Given the description of an element on the screen output the (x, y) to click on. 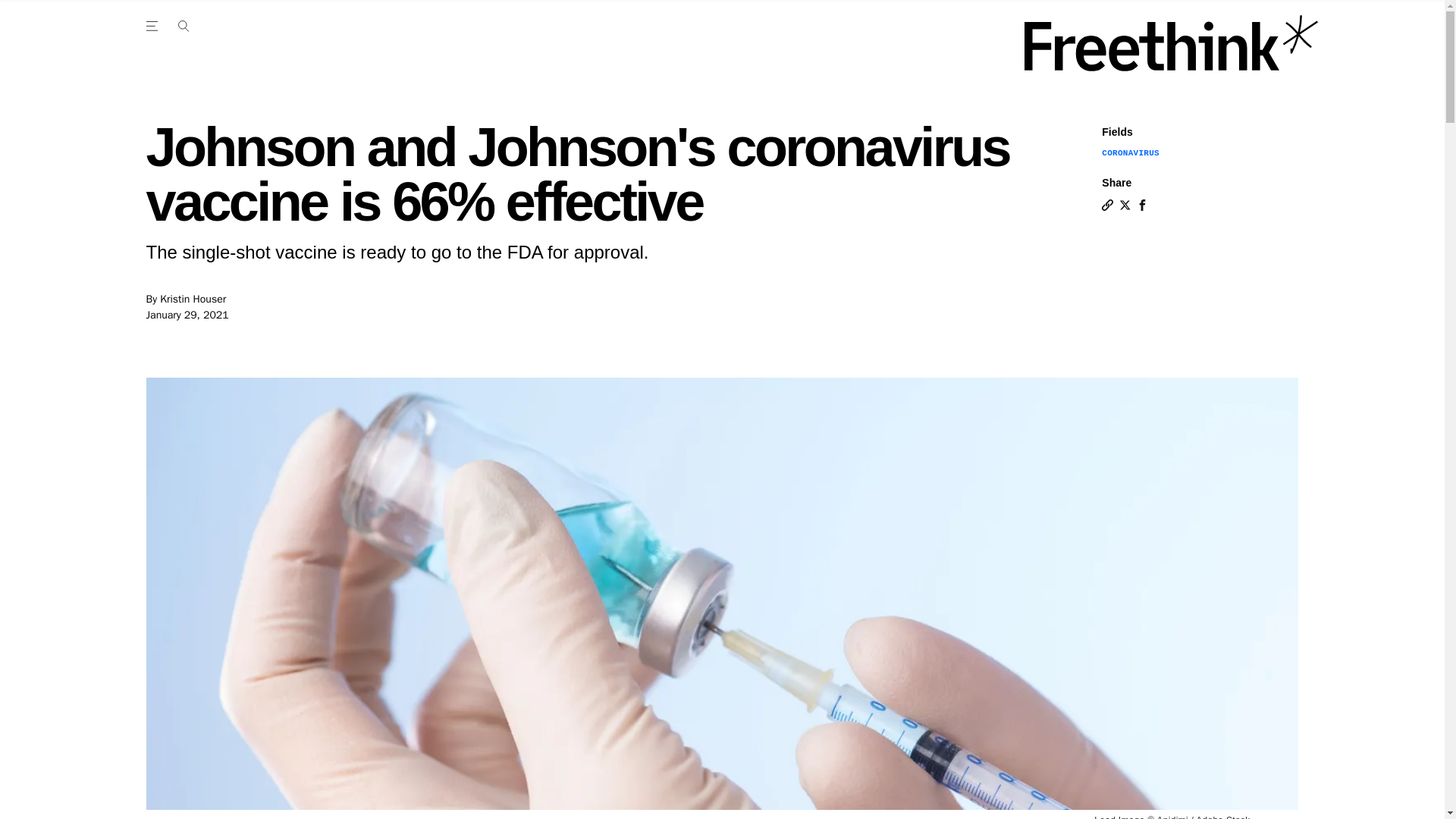
Open the Main Navigation Menu (153, 26)
Open the Main Navigation Menu (182, 26)
CORONAVIRUS (1130, 153)
Kristin Houser (192, 298)
